Given the description of an element on the screen output the (x, y) to click on. 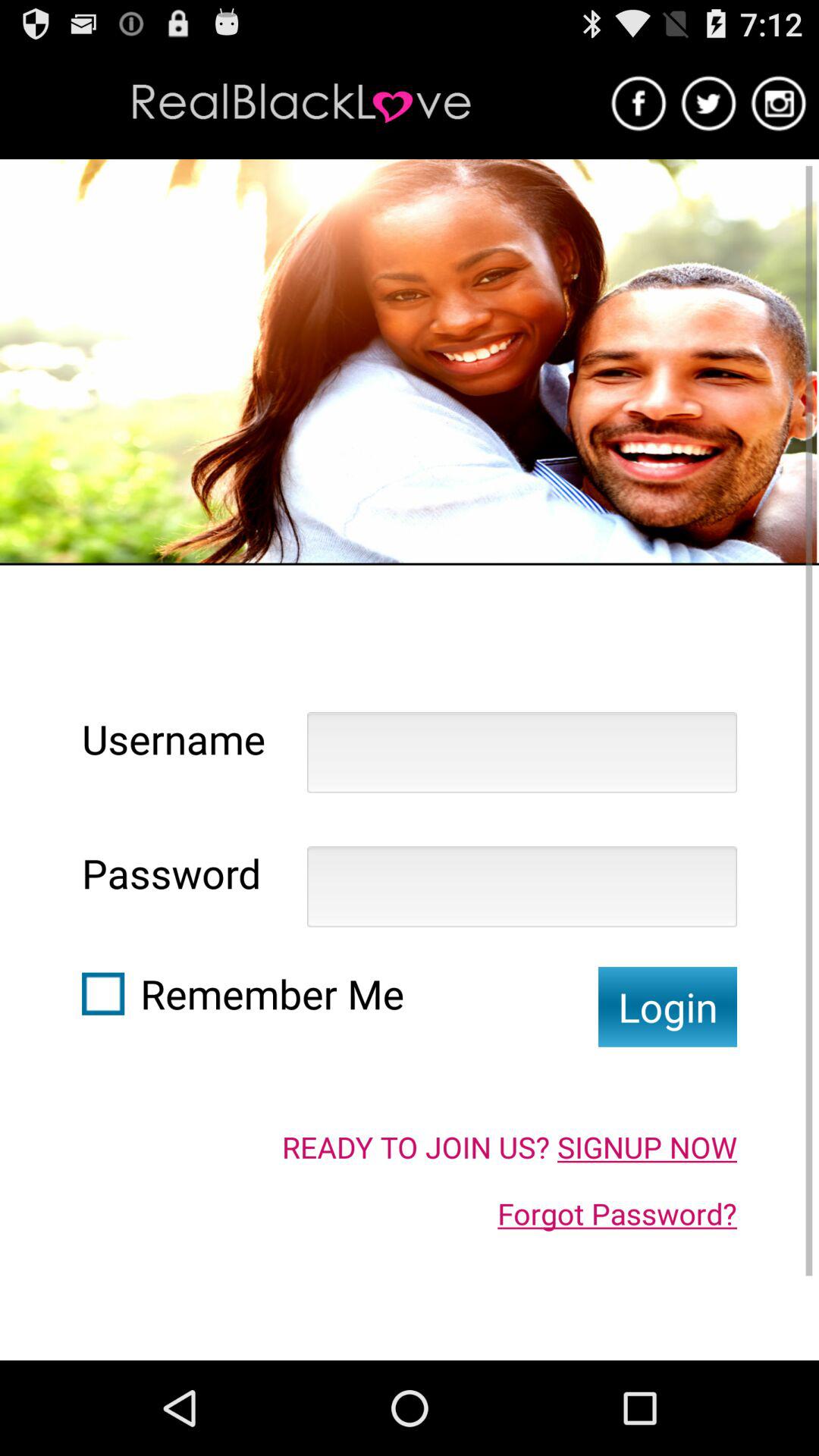
open app to the right of remember me item (667, 1006)
